Given the description of an element on the screen output the (x, y) to click on. 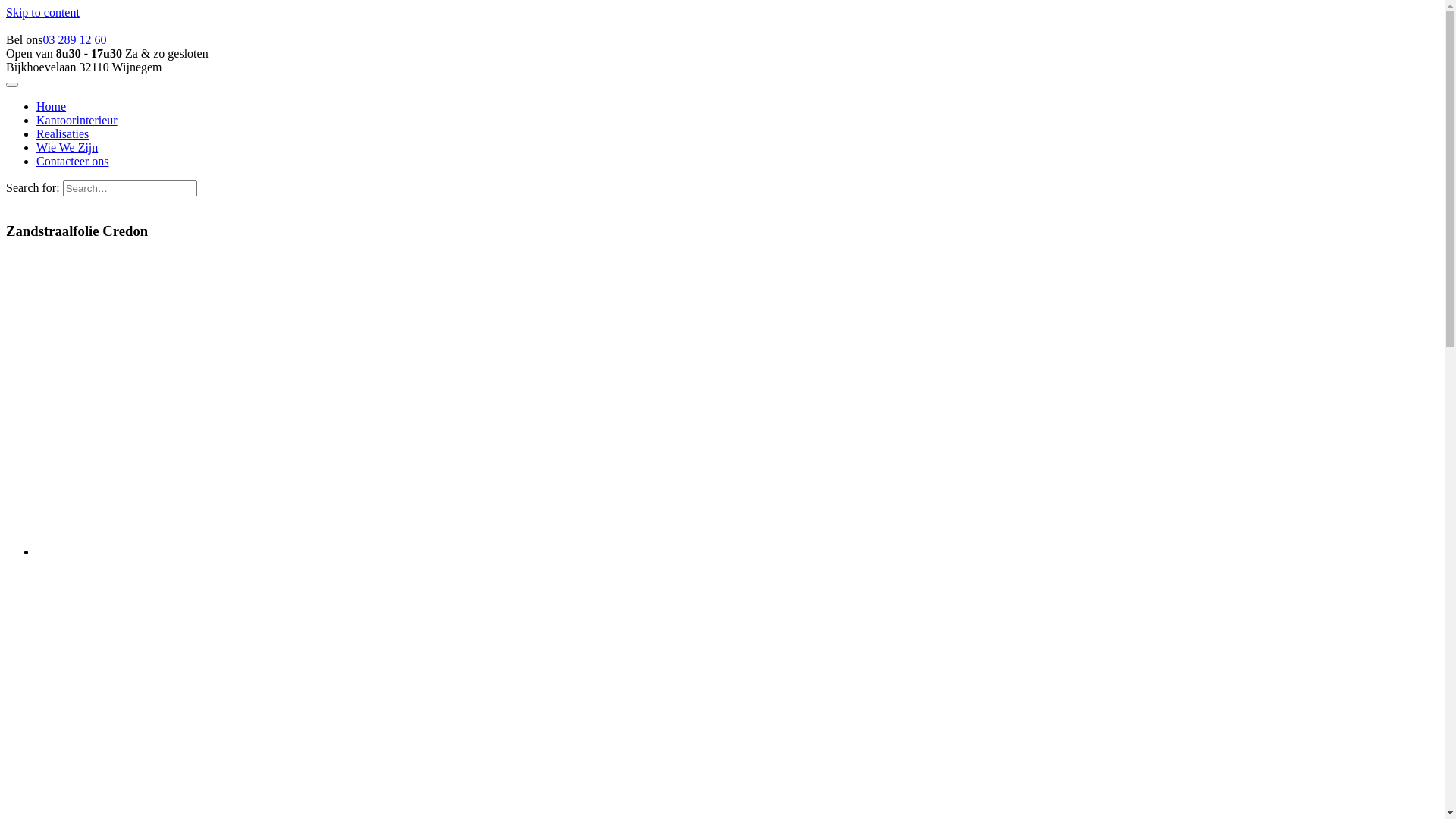
03 289 12 60 Element type: text (74, 39)
Home Element type: text (50, 106)
Realisaties Element type: text (62, 133)
Skip to content Element type: text (42, 12)
Contacteer ons Element type: text (72, 160)
Kantoorinterieur Element type: text (76, 119)
Wie We Zijn Element type: text (66, 147)
